Given the description of an element on the screen output the (x, y) to click on. 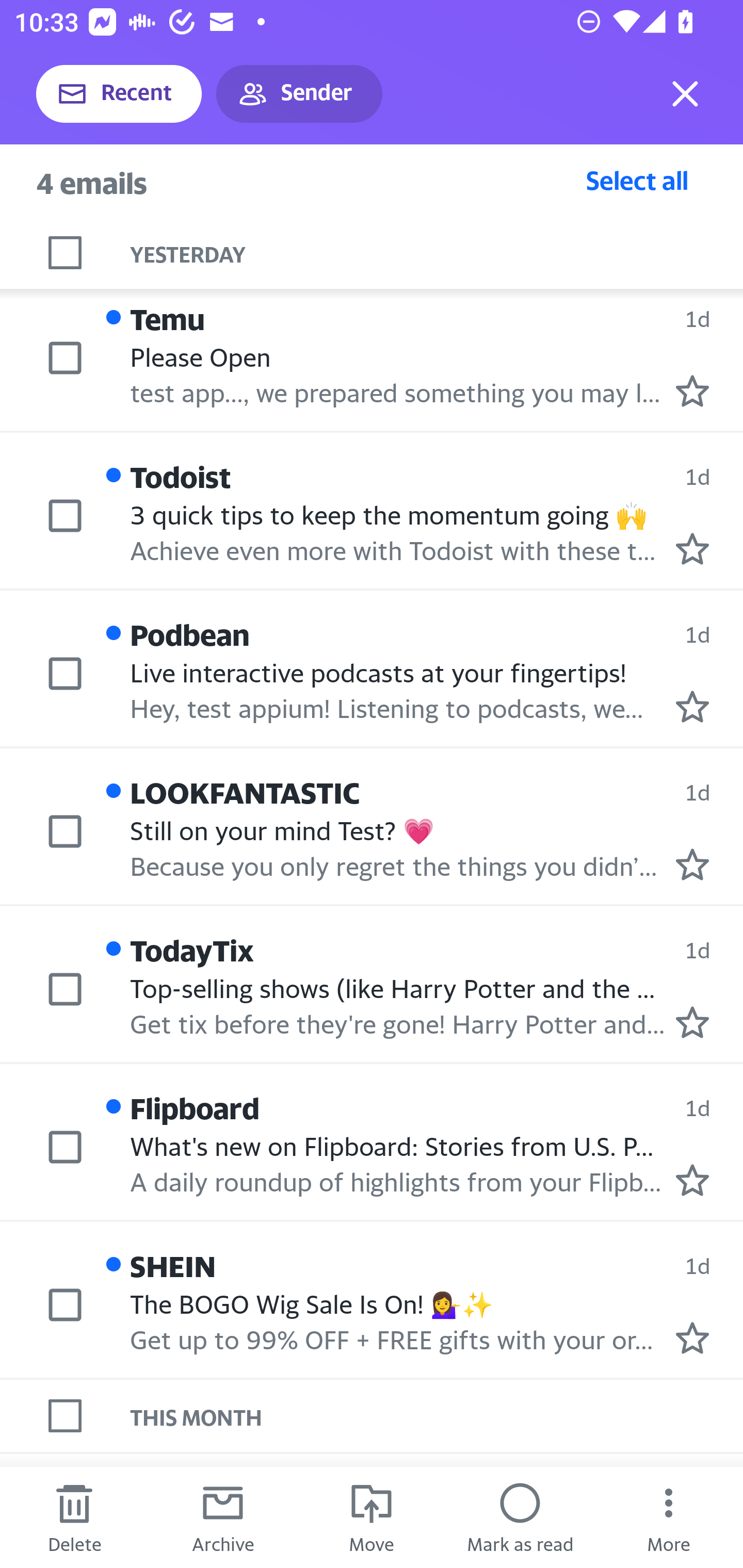
Sender (299, 93)
Exit selection mode (684, 93)
Select all (637, 180)
Mark as starred. (692, 391)
Mark as starred. (692, 548)
Mark as starred. (692, 706)
Mark as starred. (692, 864)
Mark as starred. (692, 1021)
Mark as starred. (692, 1179)
Mark as starred. (692, 1338)
THIS MONTH (436, 1414)
Delete (74, 1517)
Archive (222, 1517)
Move (371, 1517)
Mark as read (519, 1517)
More (668, 1517)
